Given the description of an element on the screen output the (x, y) to click on. 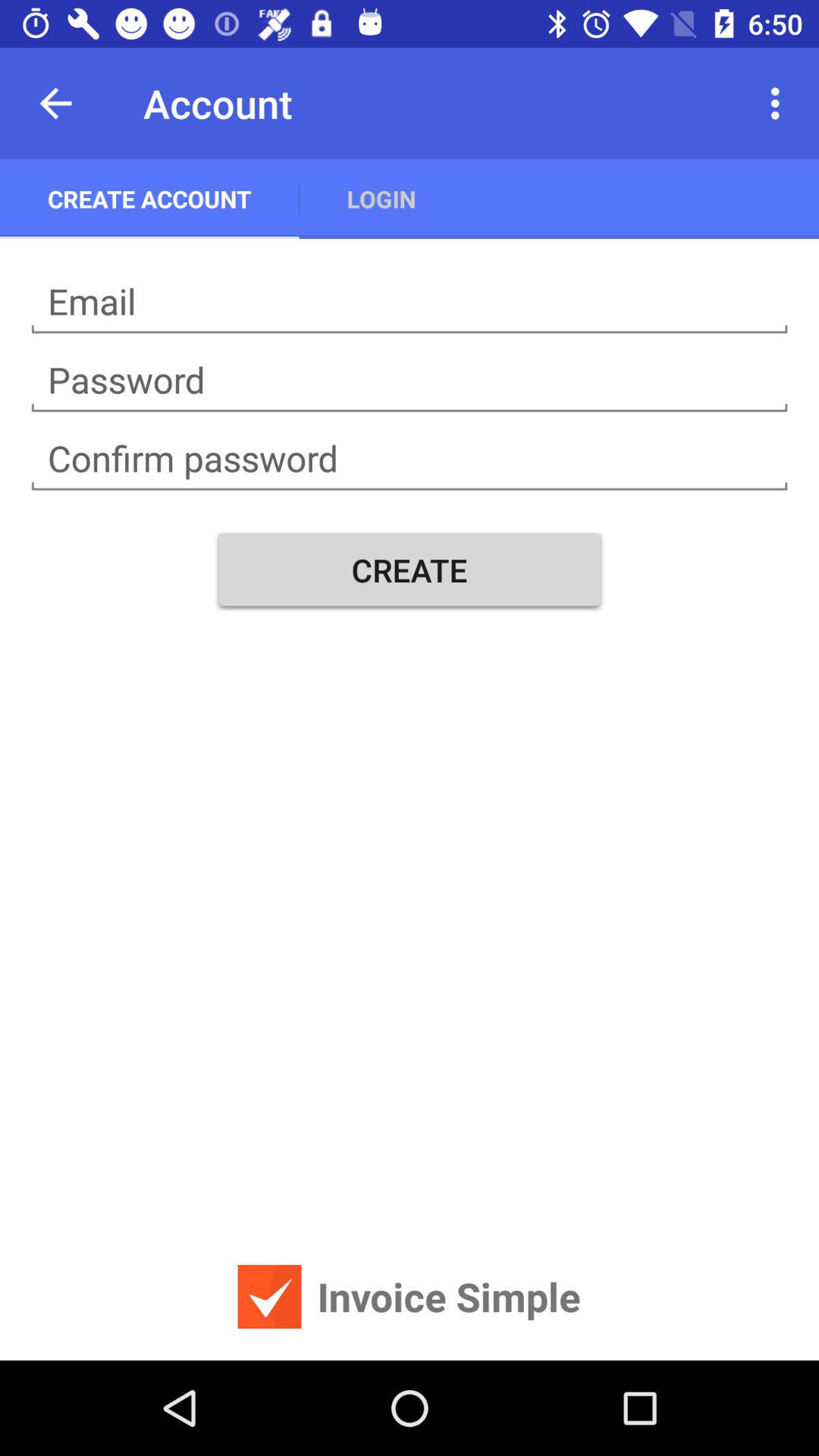
confirm password (409, 458)
